Given the description of an element on the screen output the (x, y) to click on. 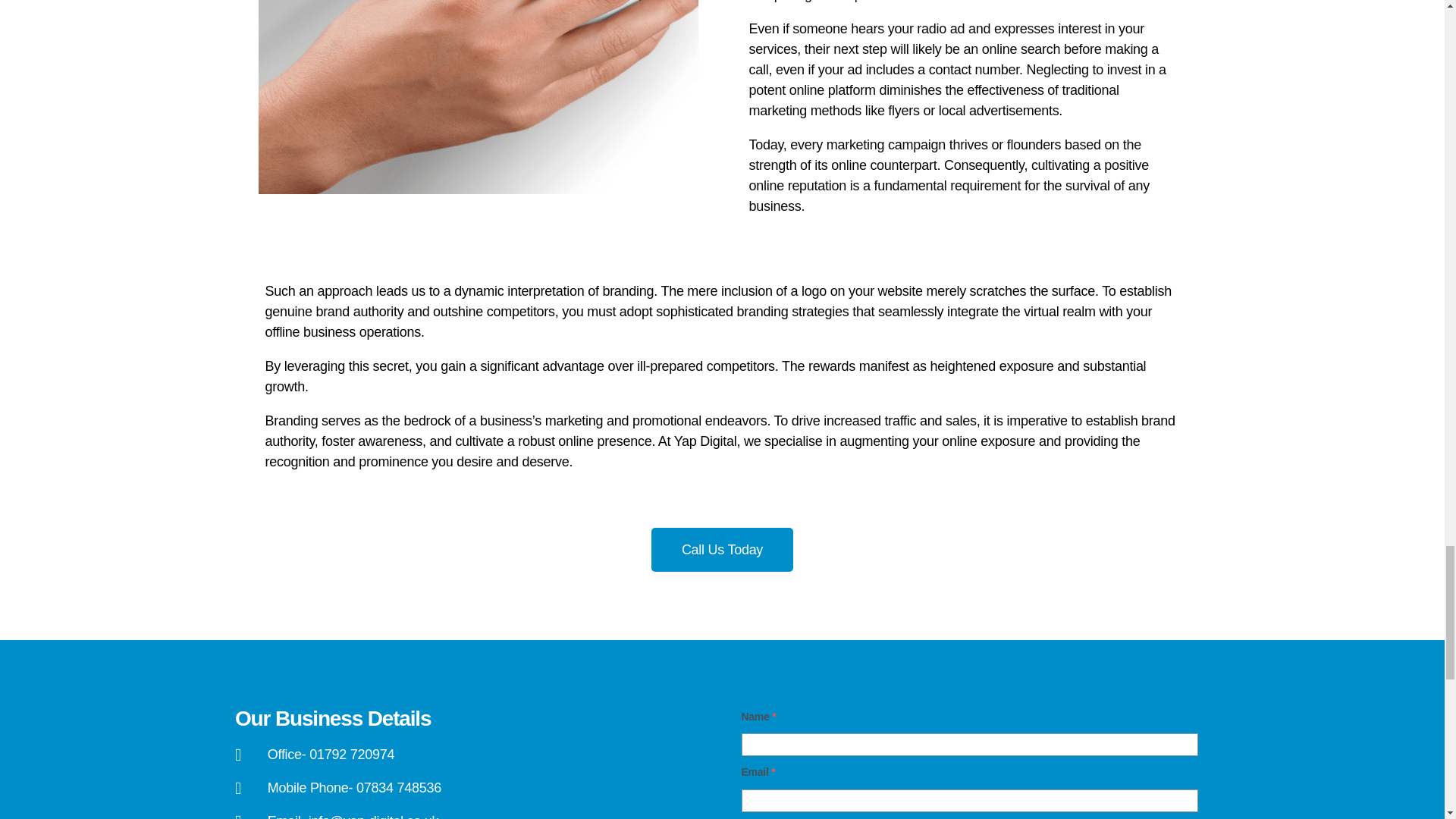
Mobile Phone- 07834 748536 (474, 788)
Office- 01792 720974 (474, 754)
Call Us Today (721, 549)
